Given the description of an element on the screen output the (x, y) to click on. 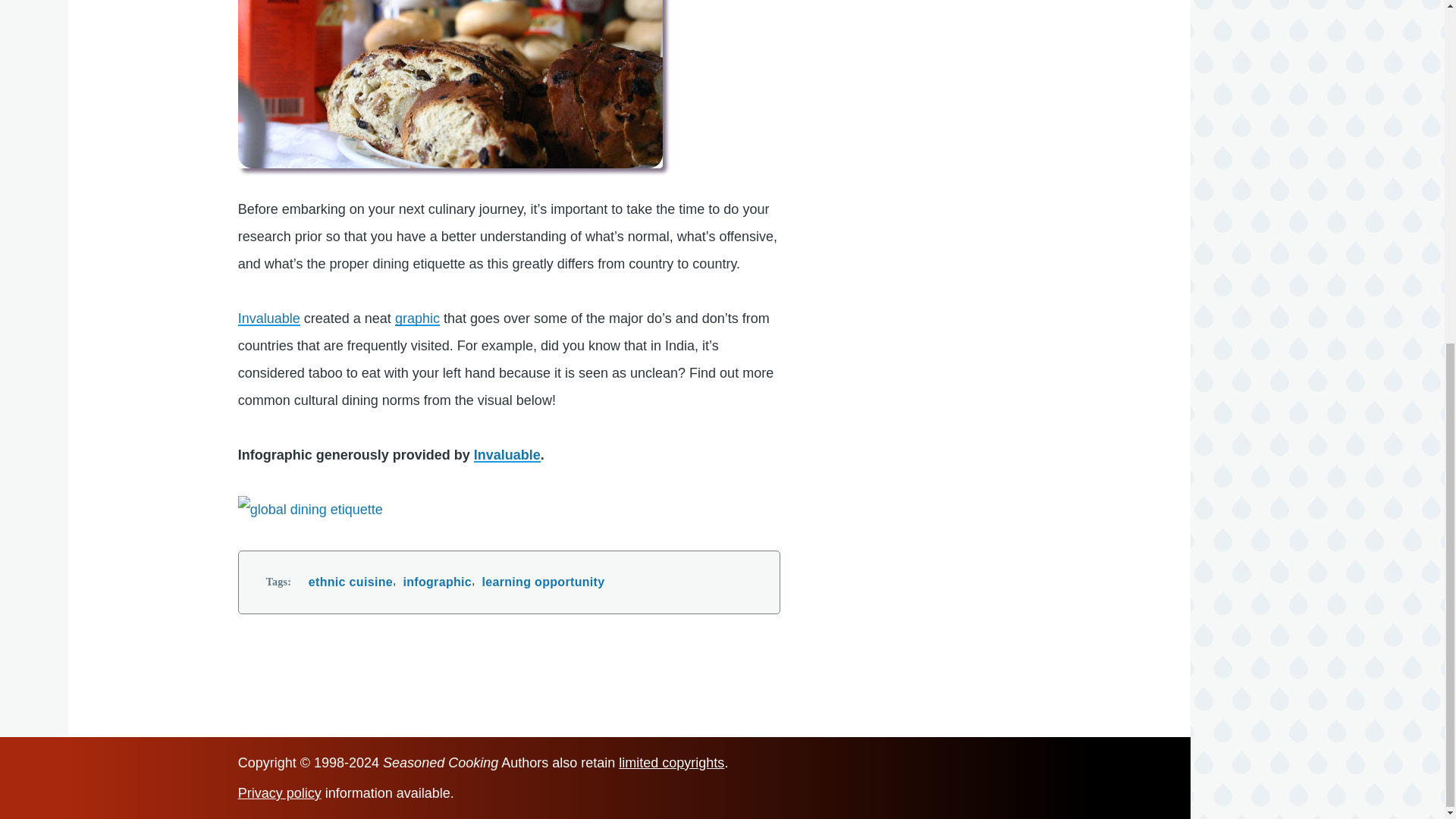
Privacy policy (279, 792)
Advertisement (970, 3)
ethnic cuisine (350, 581)
learning opportunity (543, 581)
infographic (437, 581)
Invaluable (268, 318)
Invaluable (507, 454)
graphic (416, 318)
limited copyrights (670, 762)
